Given the description of an element on the screen output the (x, y) to click on. 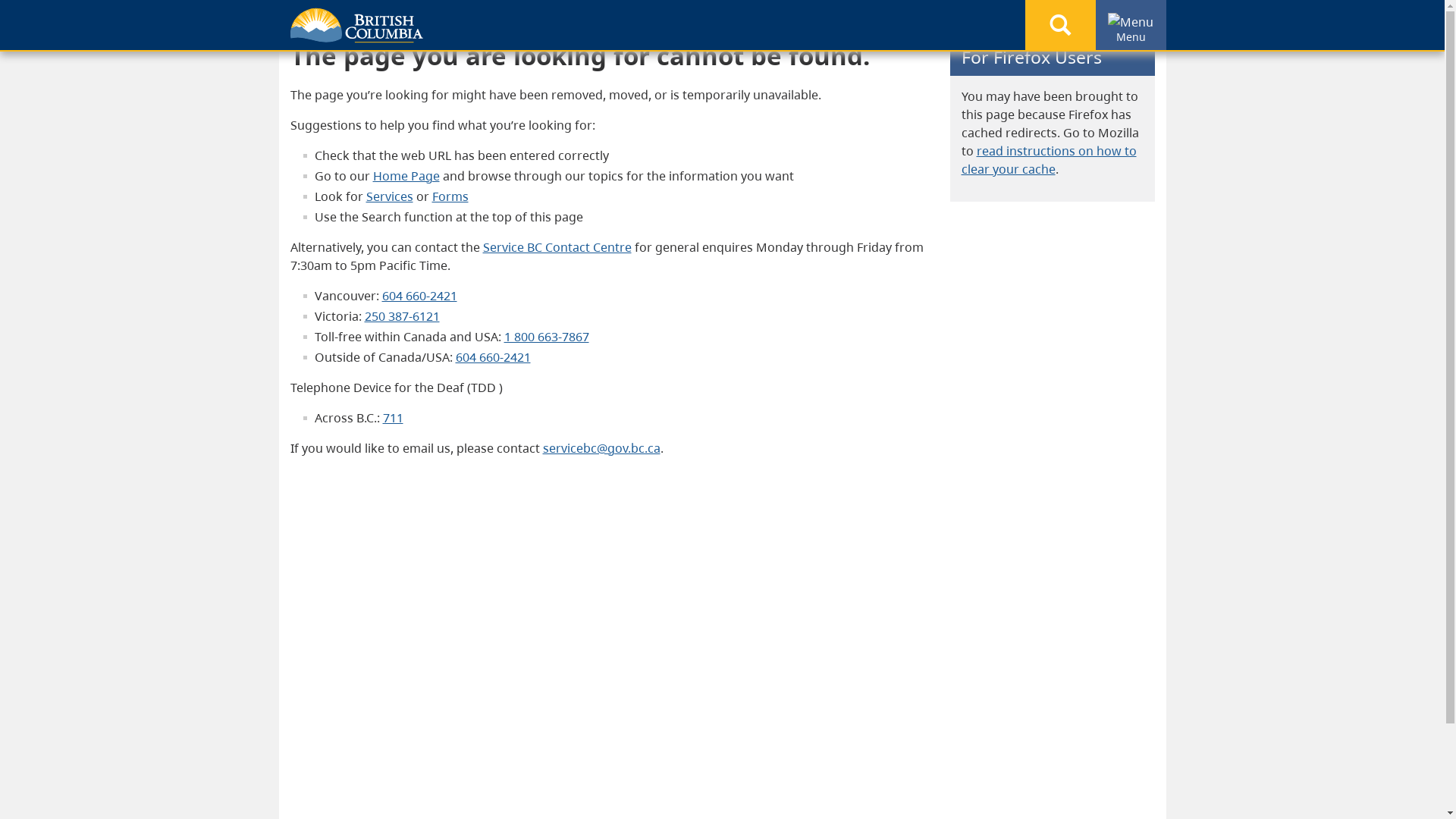
250 387-6121 Element type: text (401, 315)
1 800 663-7867 Element type: text (545, 336)
Home Page Element type: text (406, 175)
Forms Element type: text (450, 196)
Service BC Contact Centre Element type: text (556, 246)
711 Element type: text (392, 417)
604 660-2421 Element type: text (492, 356)
read instructions on how to clear your cache Element type: text (1048, 159)
Home Element type: text (318, 20)
604 660-2421 Element type: text (419, 295)
Menu Element type: text (1130, 25)
Menu Element type: hover (1130, 21)
servicebc@gov.bc.ca Element type: text (601, 447)
Government of B.C. Element type: hover (355, 25)
Services Element type: text (388, 196)
